Given the description of an element on the screen output the (x, y) to click on. 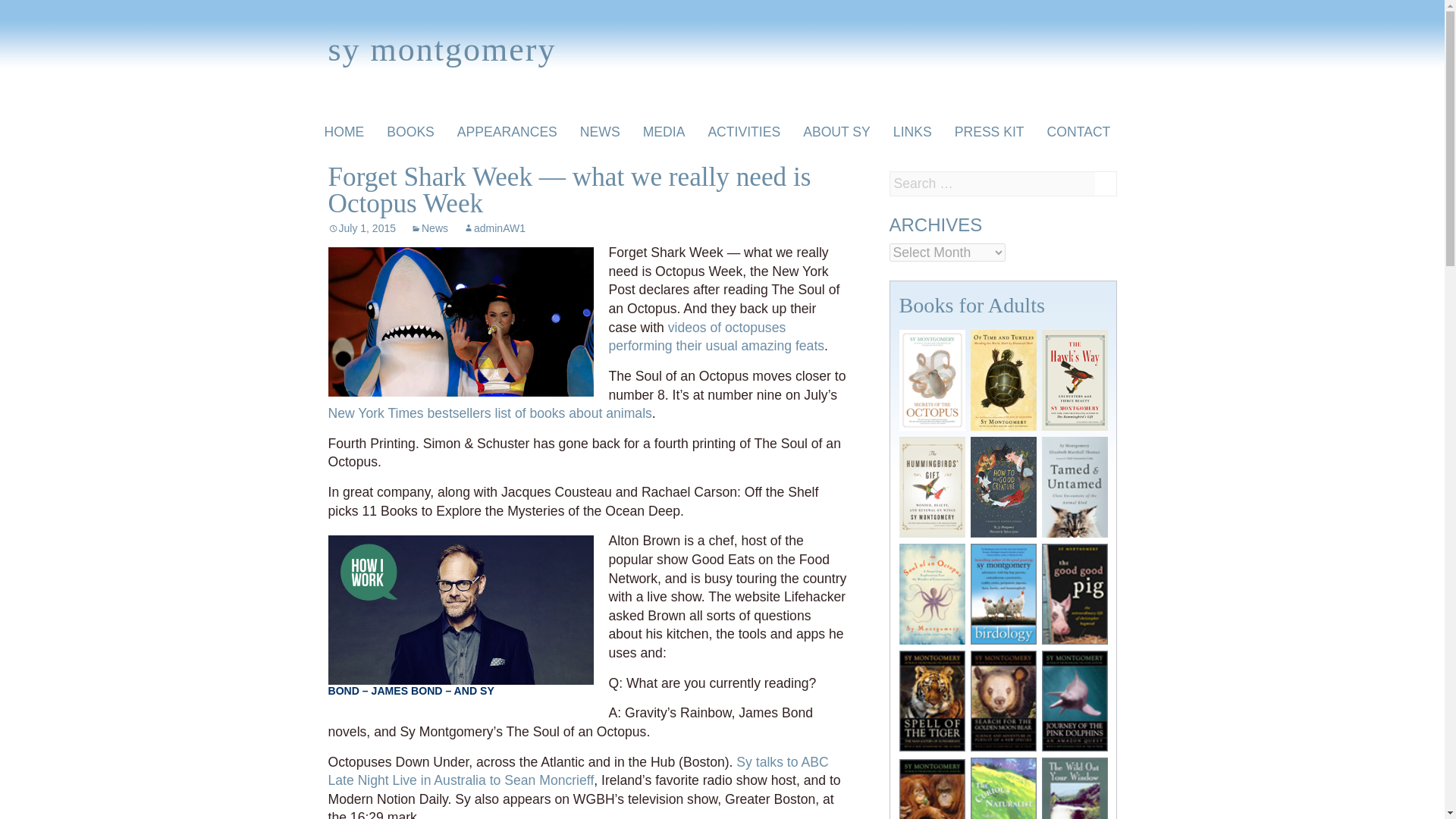
ABOUT SY (837, 132)
HOME (344, 132)
July 1, 2015 (361, 227)
News (429, 227)
ACTIVITIES (743, 132)
sy montgomery (441, 55)
CONTACT (1078, 132)
New York Times bestsellers list of books about animals (488, 412)
LINKS (912, 132)
